Given the description of an element on the screen output the (x, y) to click on. 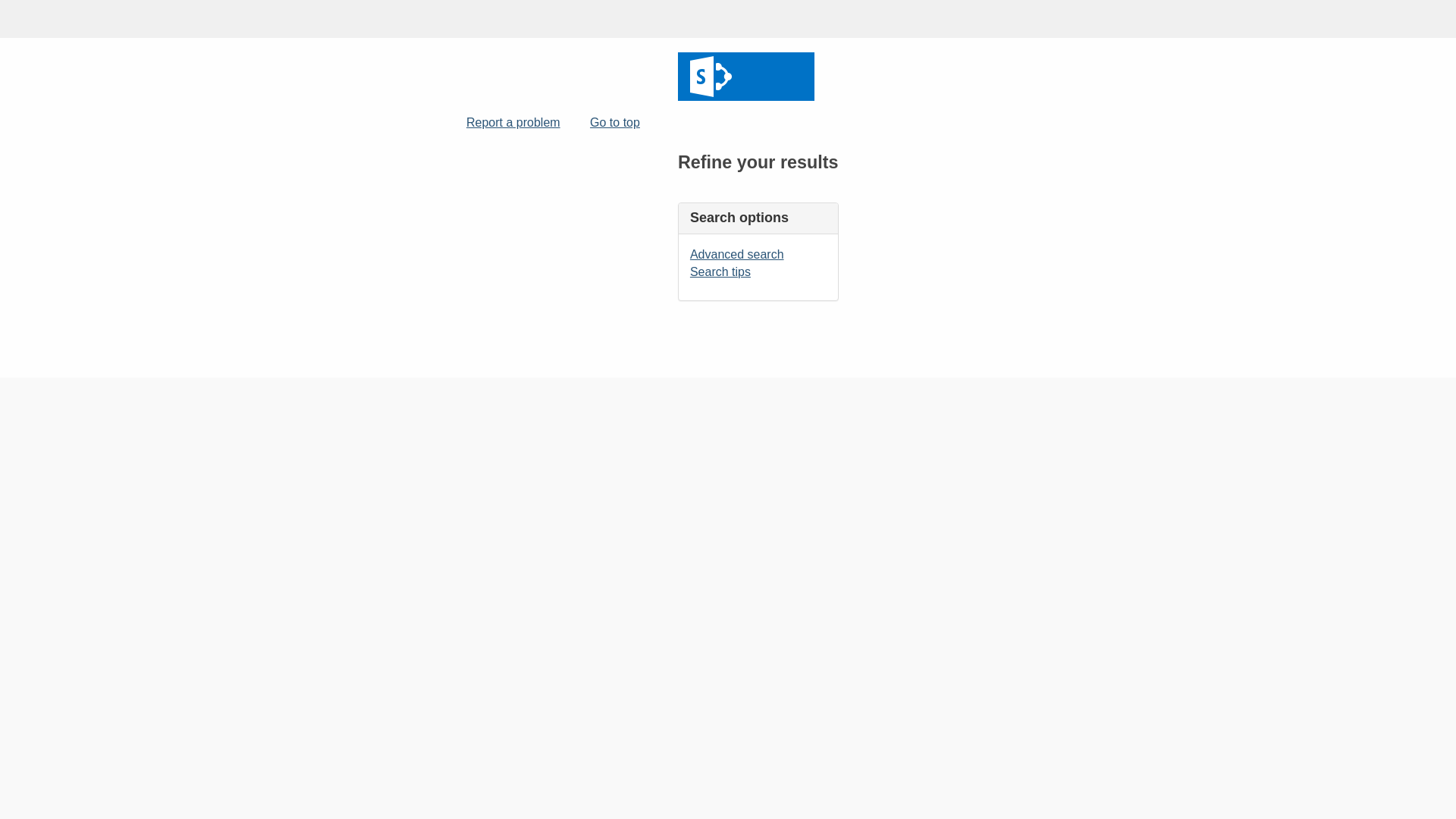
Advanced search Element type: text (737, 253)
Report a problem Element type: text (511, 121)
Search Element type: hover (745, 76)
Search tips Element type: text (720, 271)
Go to top Element type: text (613, 121)
